Given the description of an element on the screen output the (x, y) to click on. 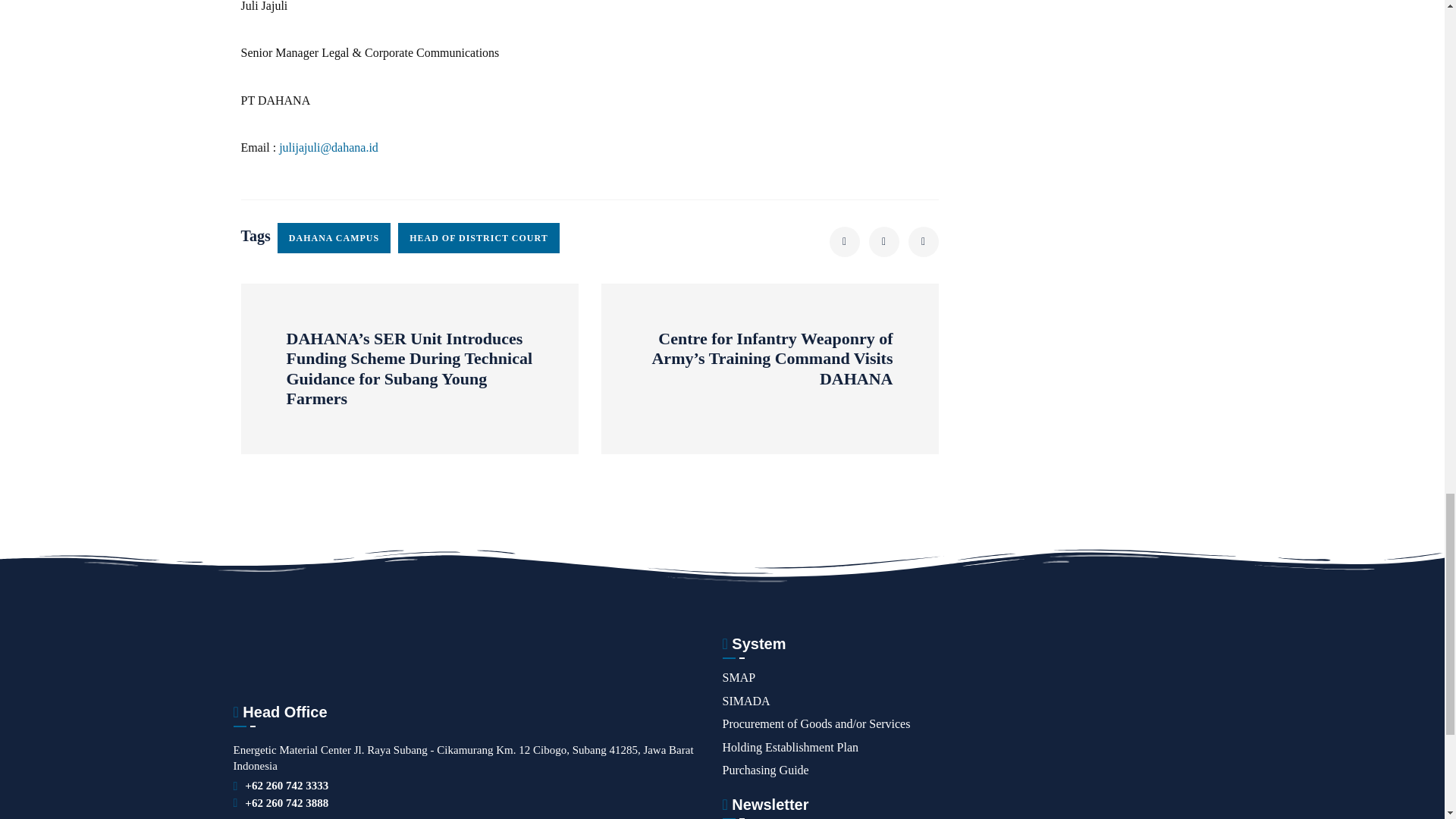
Head of Subang District Court Visits DAHANA Campus (923, 241)
Head of Subang District Court Visits DAHANA Campus (884, 241)
Head of Subang District Court Visits DAHANA Campus (844, 241)
address (286, 785)
